Given the description of an element on the screen output the (x, y) to click on. 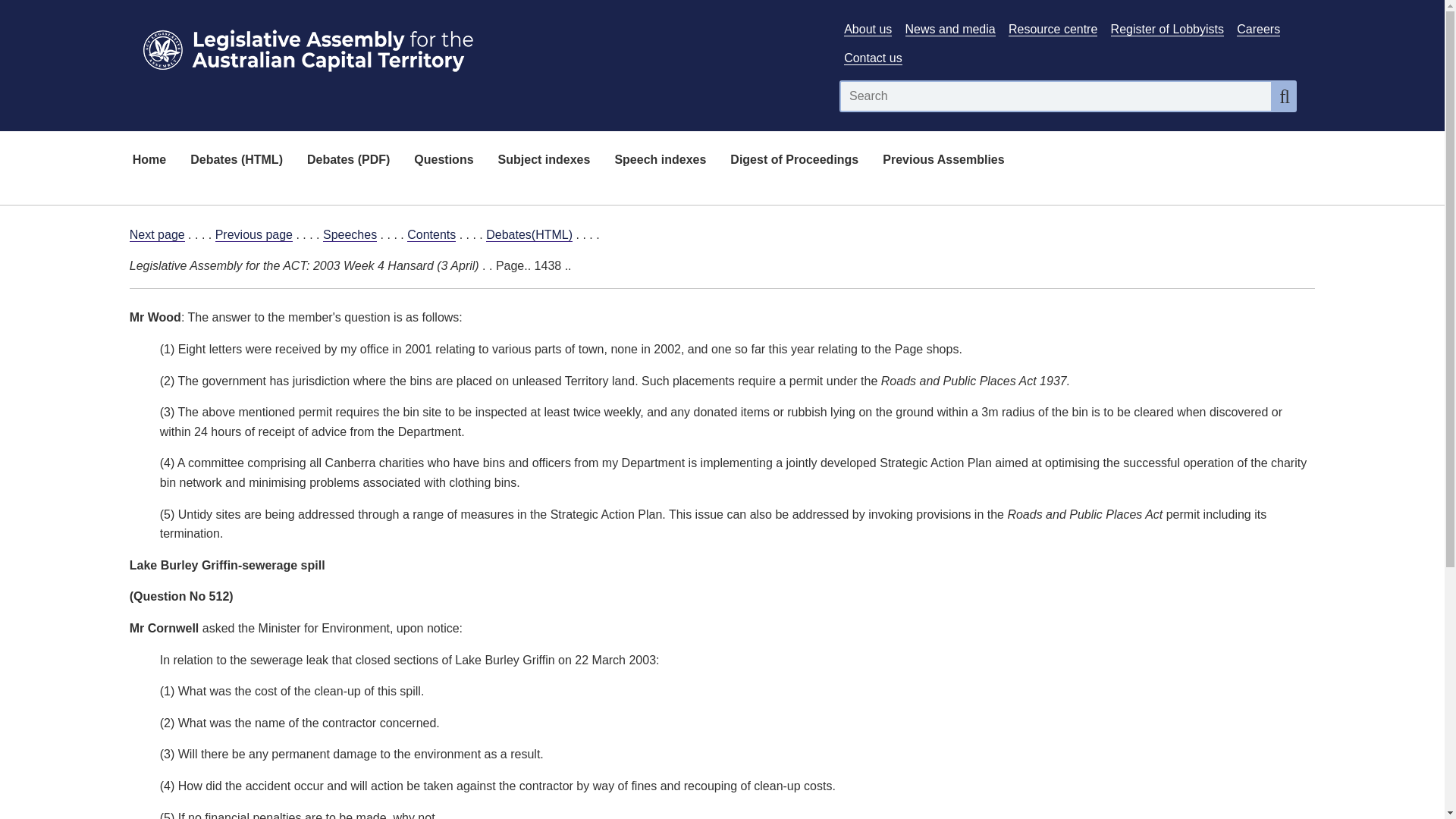
Digest of Proceedings (793, 160)
Previous page (253, 234)
Link to About Us (867, 29)
Link to Resource centre (1053, 29)
Speeches (350, 234)
Register of Lobbyists (1167, 29)
Contents (431, 234)
Subject indexes (544, 160)
Link to Contact Us (872, 58)
Next page (156, 234)
News and media (950, 29)
Previous Assemblies (943, 160)
Resource centre (1053, 29)
Link to Careers (1257, 29)
Link to News and media (950, 29)
